Given the description of an element on the screen output the (x, y) to click on. 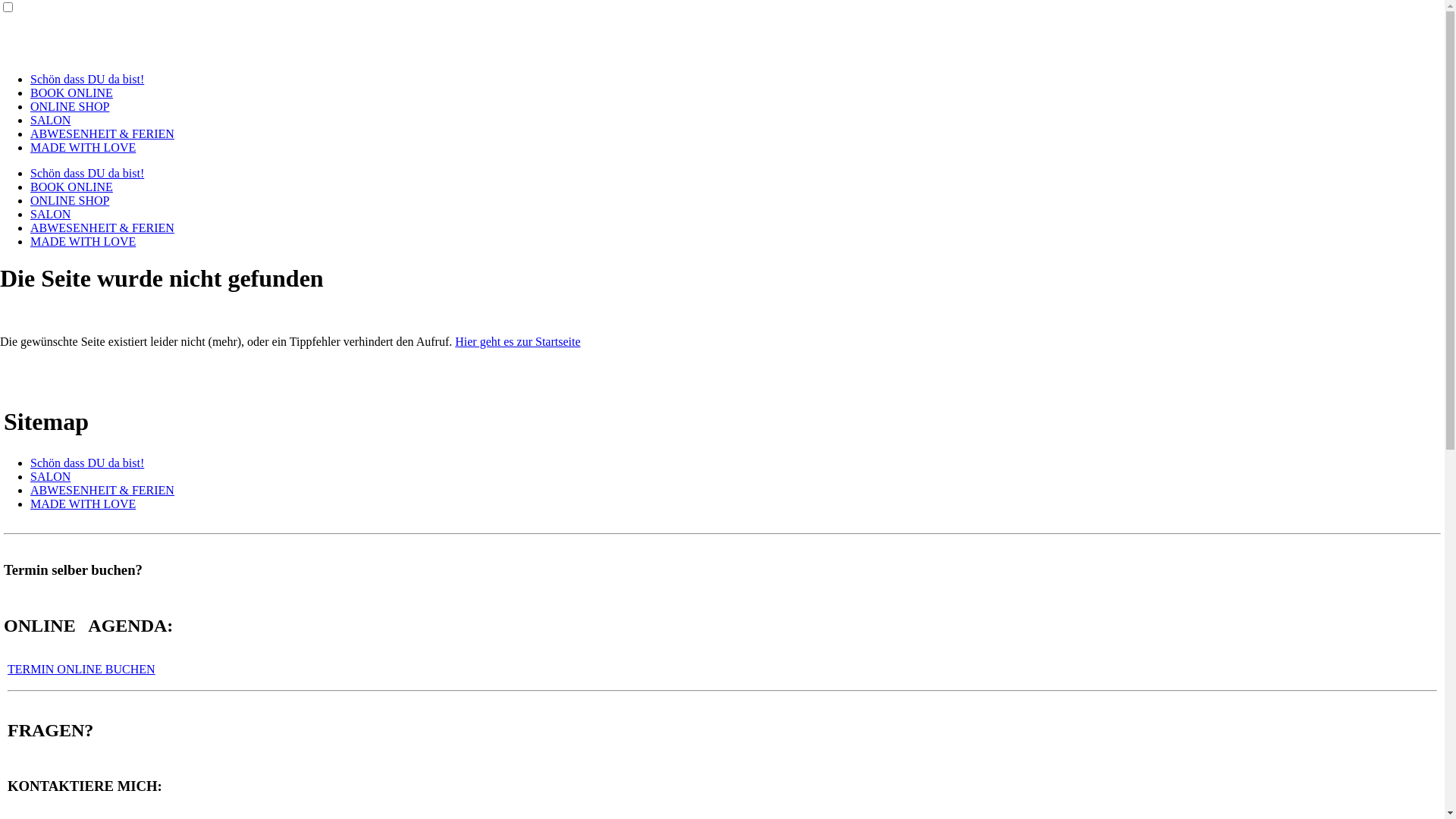
ABWESENHEIT & FERIEN Element type: text (102, 133)
SALON Element type: text (50, 213)
ONLINE SHOP Element type: text (69, 106)
BOOK ONLINE Element type: text (71, 186)
SALON Element type: text (50, 476)
MADE WITH LOVE Element type: text (82, 147)
MADE WITH LOVE Element type: text (82, 503)
Hier geht es zur Startseite Element type: text (517, 341)
ABWESENHEIT & FERIEN Element type: text (102, 227)
TERMIN ONLINE BUCHEN Element type: text (81, 668)
ONLINE SHOP Element type: text (69, 200)
MADE WITH LOVE Element type: text (82, 241)
ABWESENHEIT & FERIEN Element type: text (102, 489)
SALON Element type: text (50, 119)
BOOK ONLINE Element type: text (71, 92)
